Given the description of an element on the screen output the (x, y) to click on. 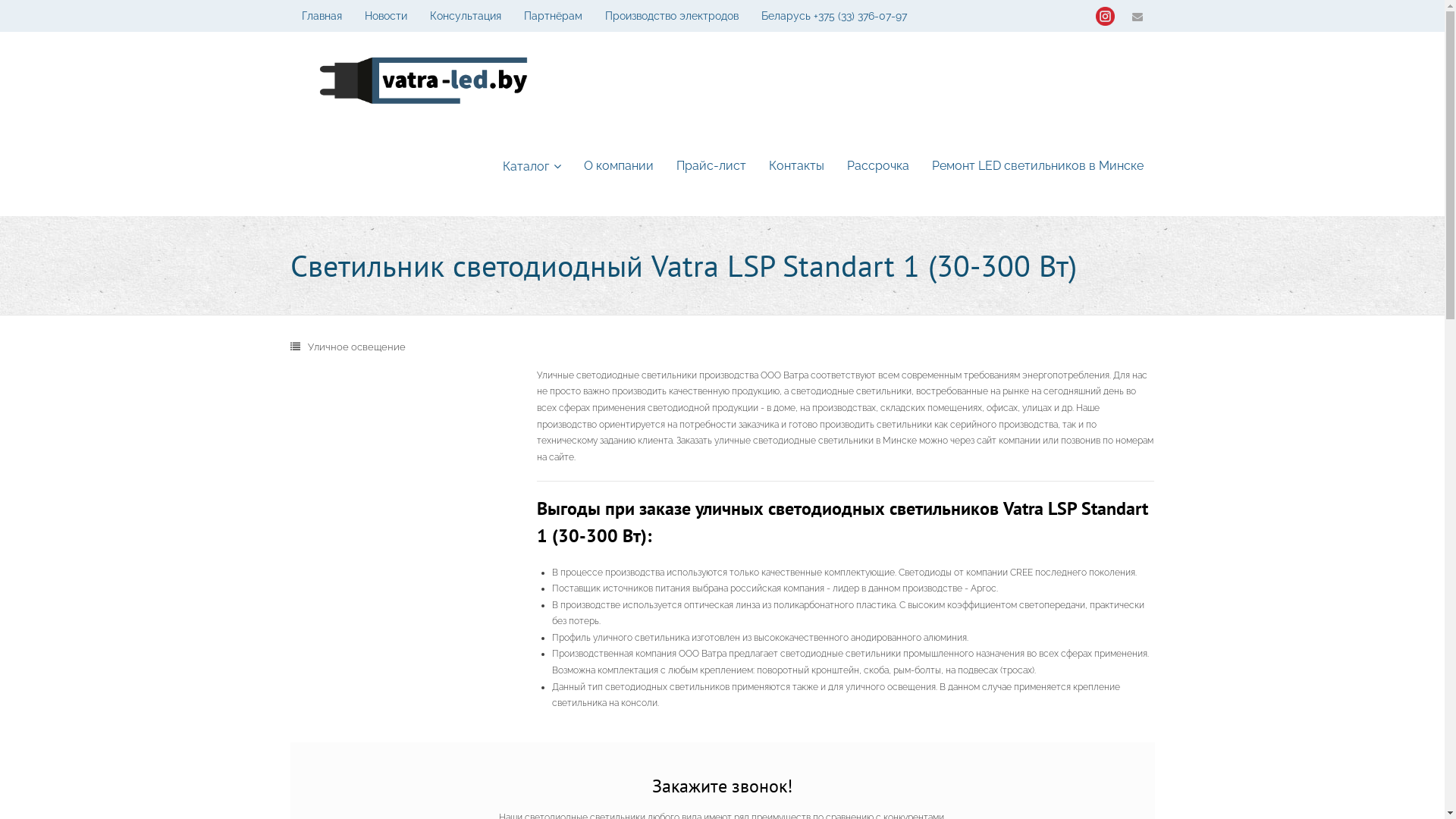
Search Element type: text (29, 14)
